Given the description of an element on the screen output the (x, y) to click on. 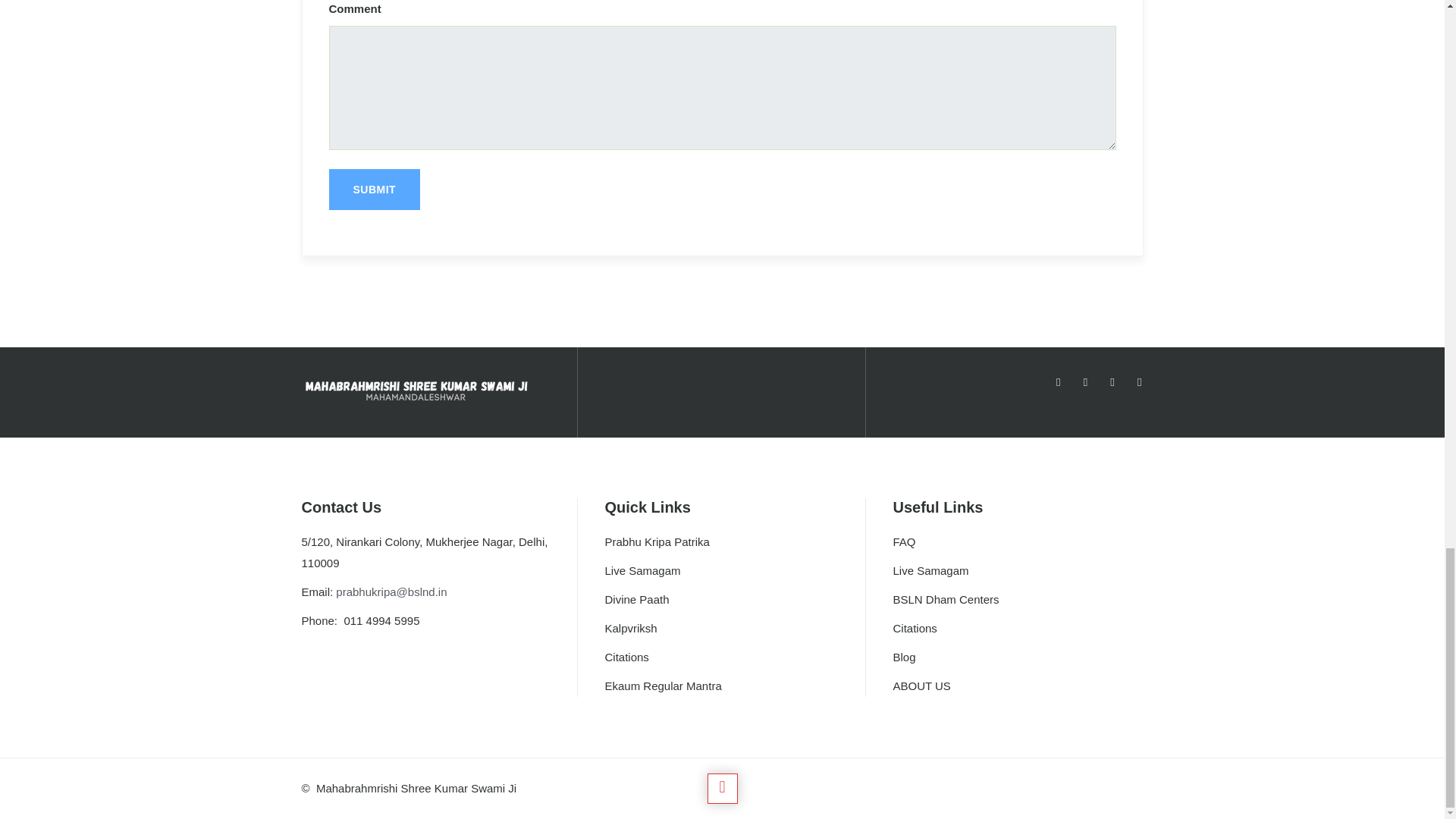
SUBMIT (374, 188)
Prabhu Kripa Patrika (656, 541)
Live Samagam (641, 570)
